Given the description of an element on the screen output the (x, y) to click on. 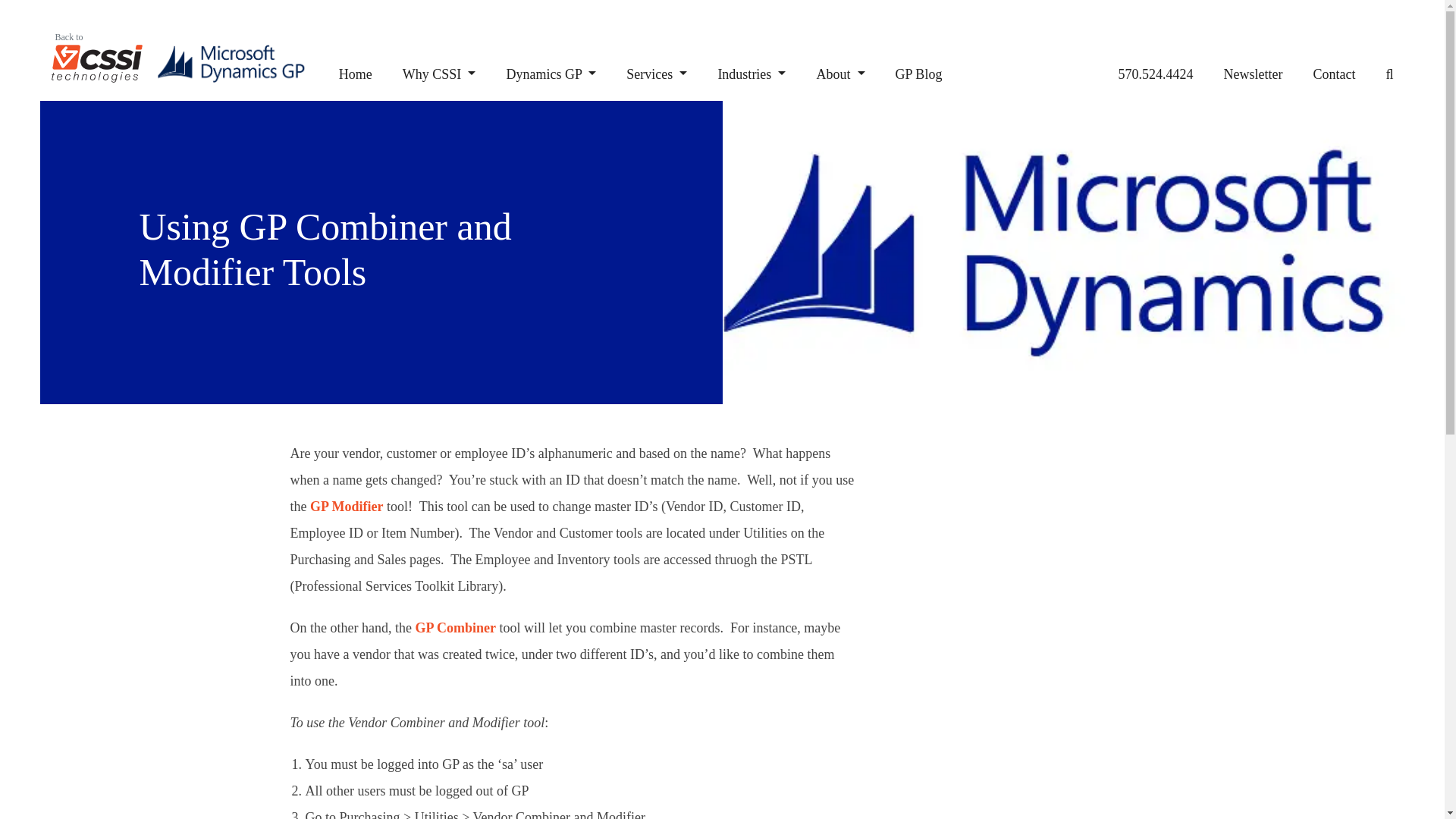
Why CSSI (439, 73)
Newsletter (1253, 73)
570.524.4424 (1155, 73)
Services (656, 73)
About (839, 73)
Contact (1334, 73)
Back to (96, 50)
Dynamics GP (550, 73)
570.524.4424 (1155, 73)
Why CSSI (439, 73)
